Given the description of an element on the screen output the (x, y) to click on. 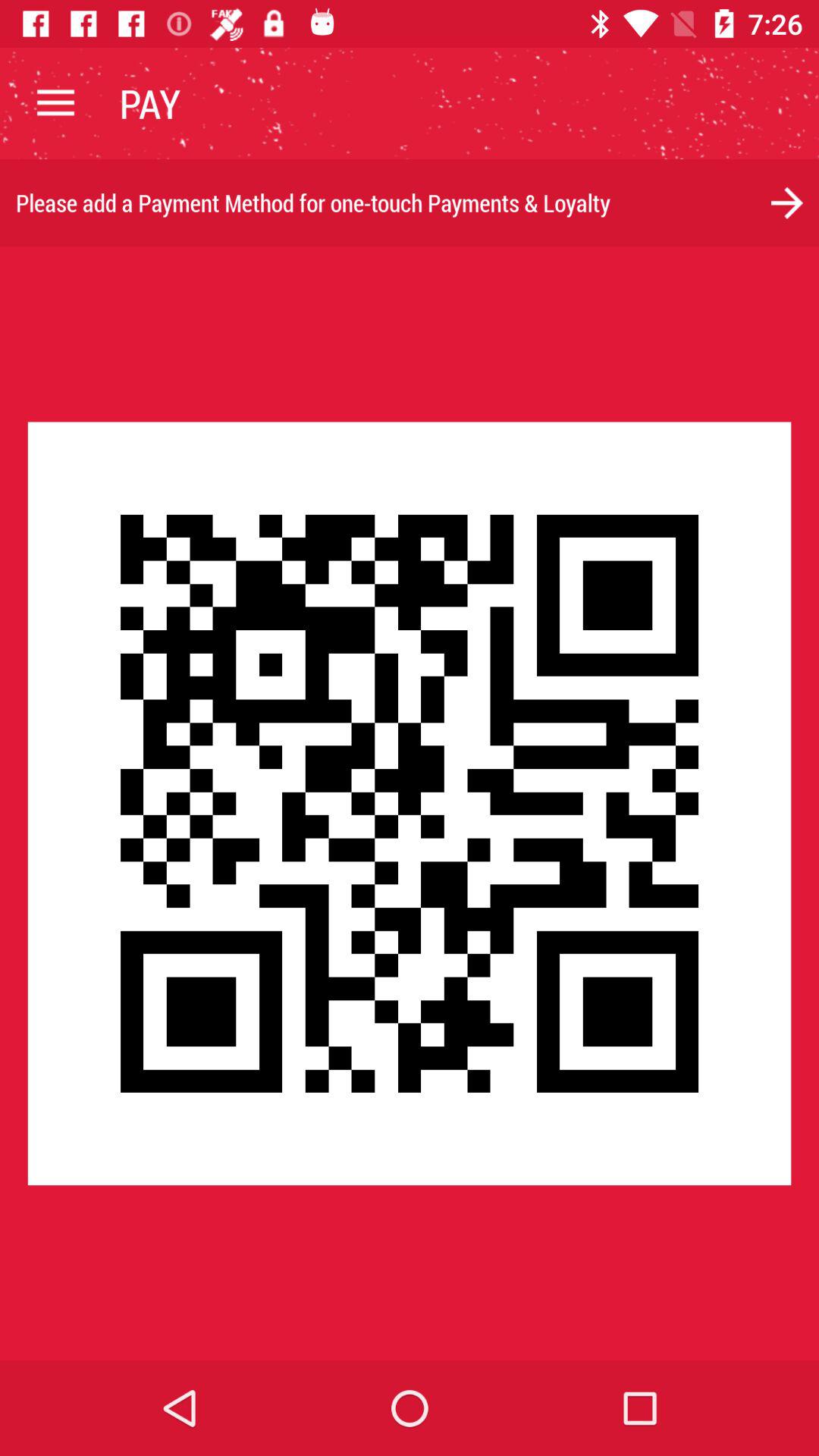
open icon below the please add a item (409, 803)
